Given the description of an element on the screen output the (x, y) to click on. 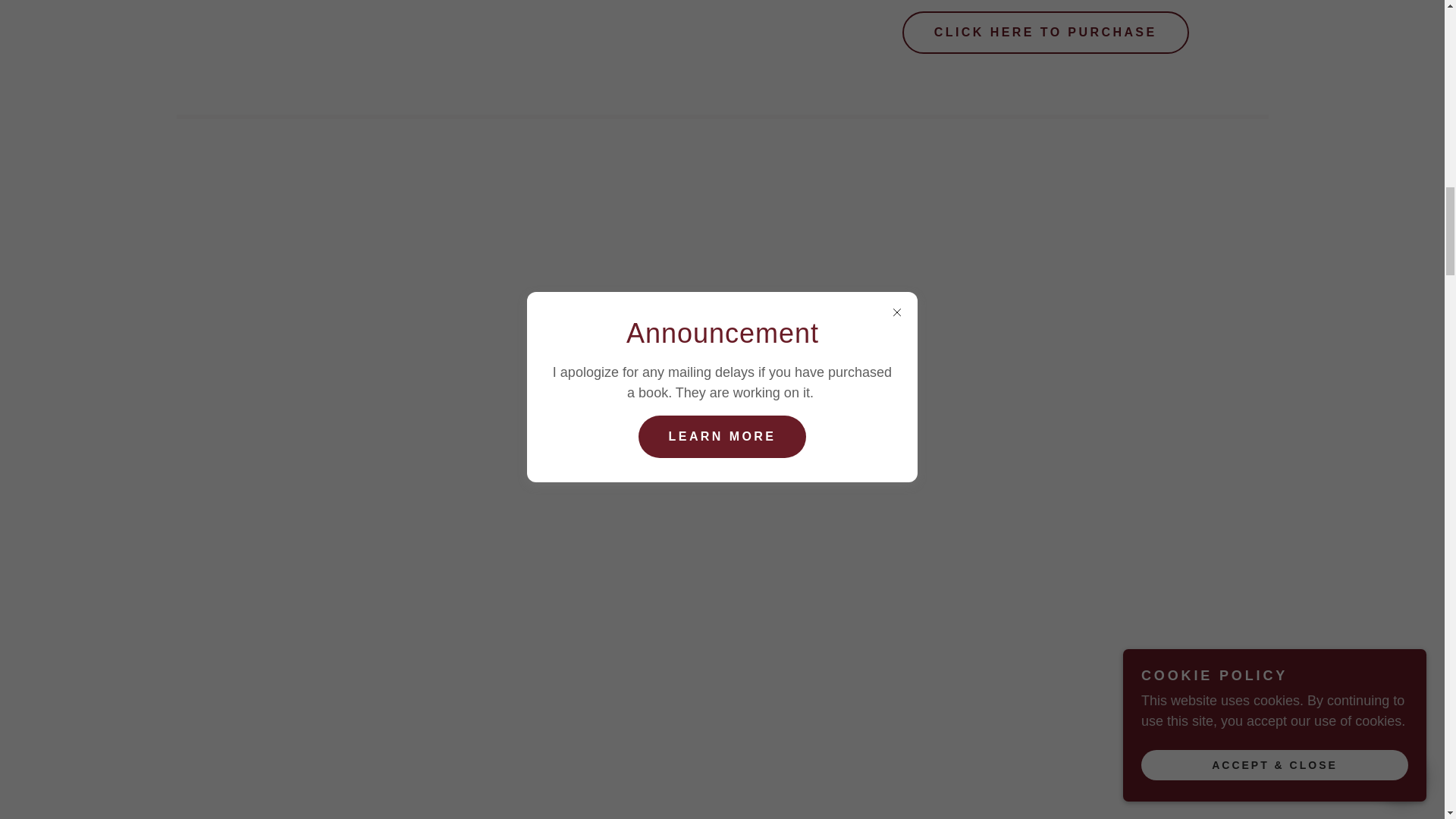
CLICK HERE TO PURCHASE (1045, 32)
